Given the description of an element on the screen output the (x, y) to click on. 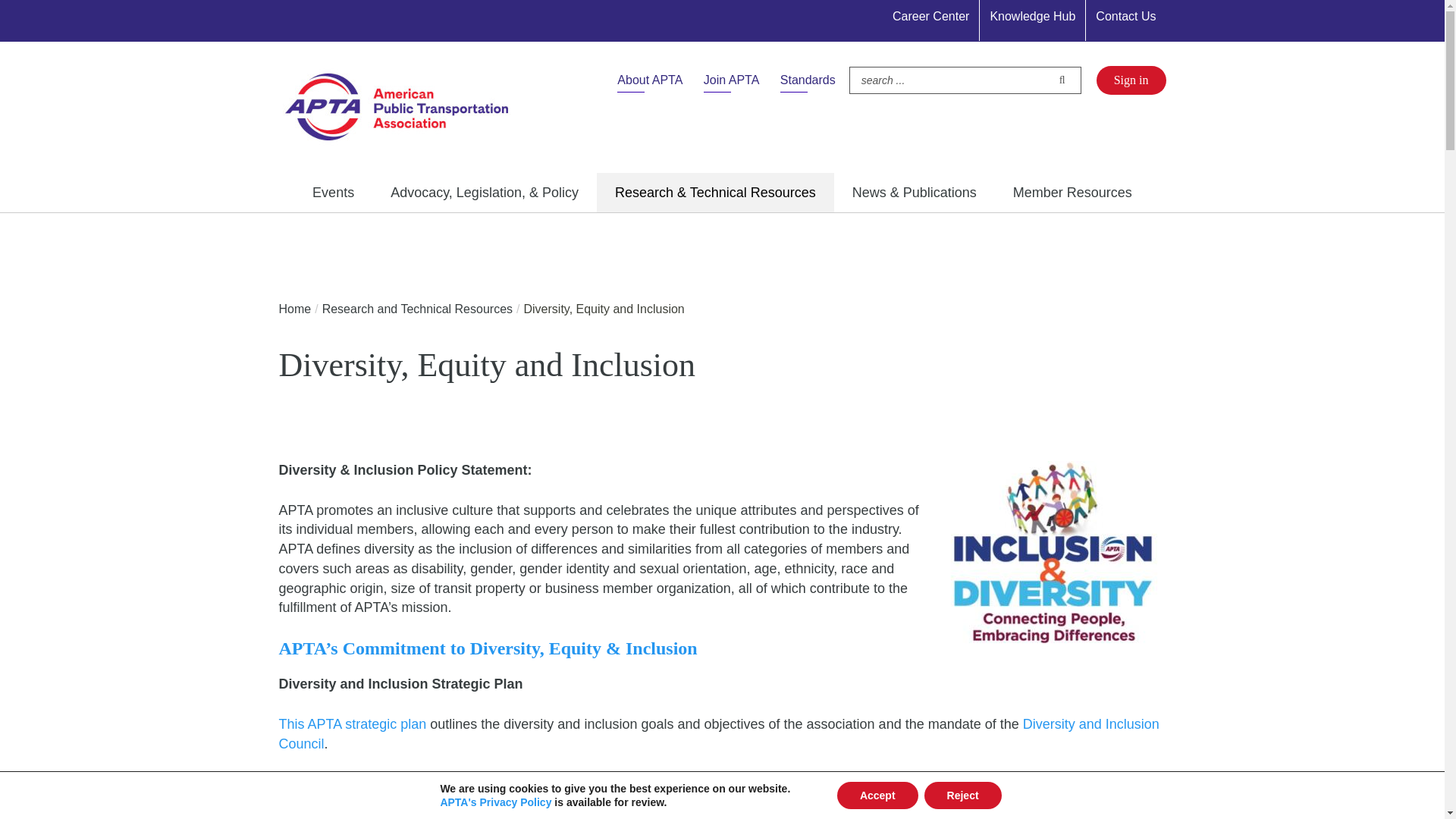
Career Center (930, 16)
Join APTA (731, 79)
Standards (807, 79)
Events (333, 192)
About APTA (649, 79)
Sign in (1131, 80)
Knowledge Hub (1031, 16)
Contact Us (1126, 16)
